Given the description of an element on the screen output the (x, y) to click on. 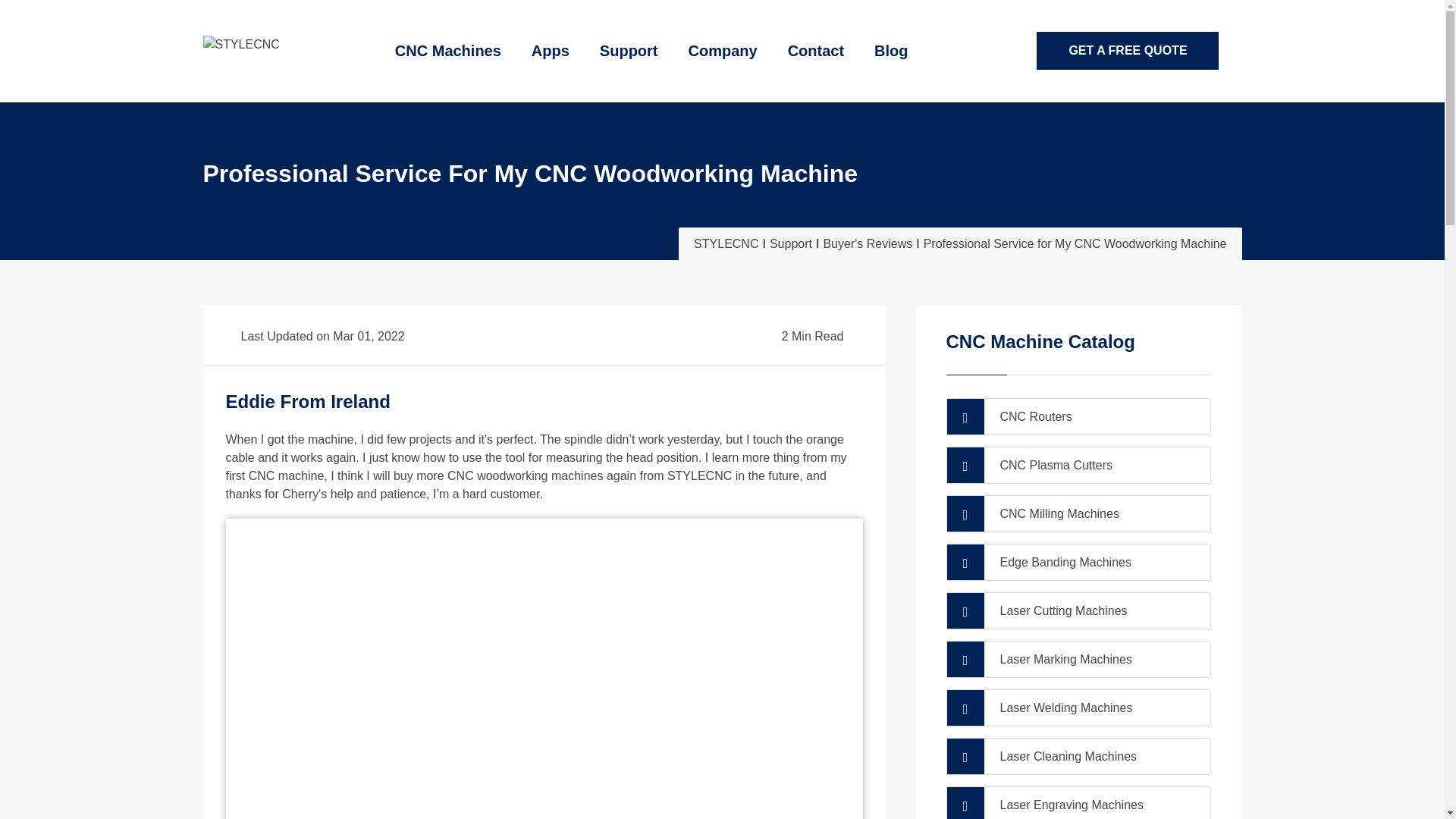
CNC Machines (448, 51)
STYLECNC (241, 42)
CNC Machines (448, 51)
STYLECNC (241, 45)
